Given the description of an element on the screen output the (x, y) to click on. 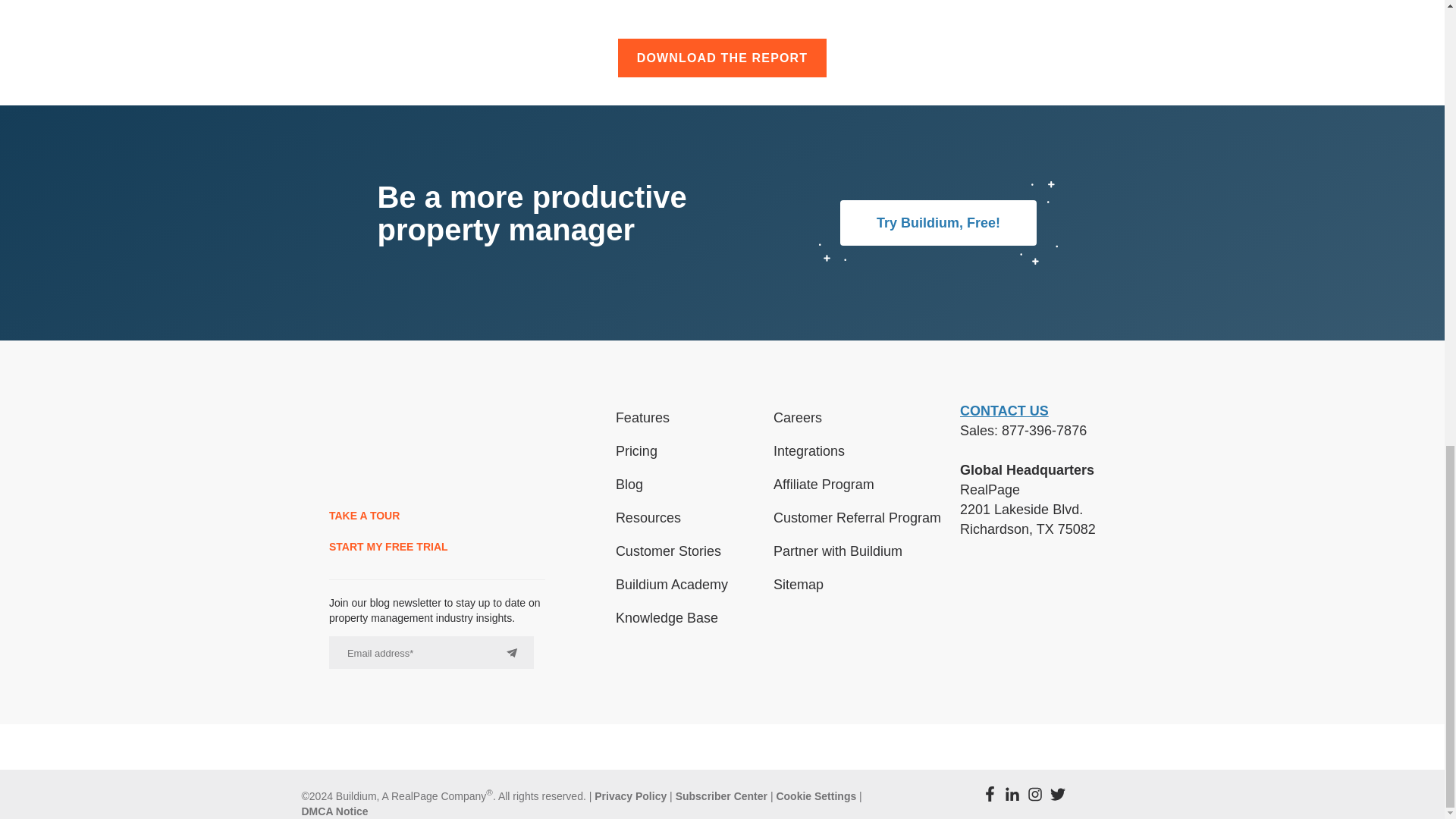
Buildium Homepage (372, 447)
Read reviews of Buildium on G2 (1002, 603)
